Given the description of an element on the screen output the (x, y) to click on. 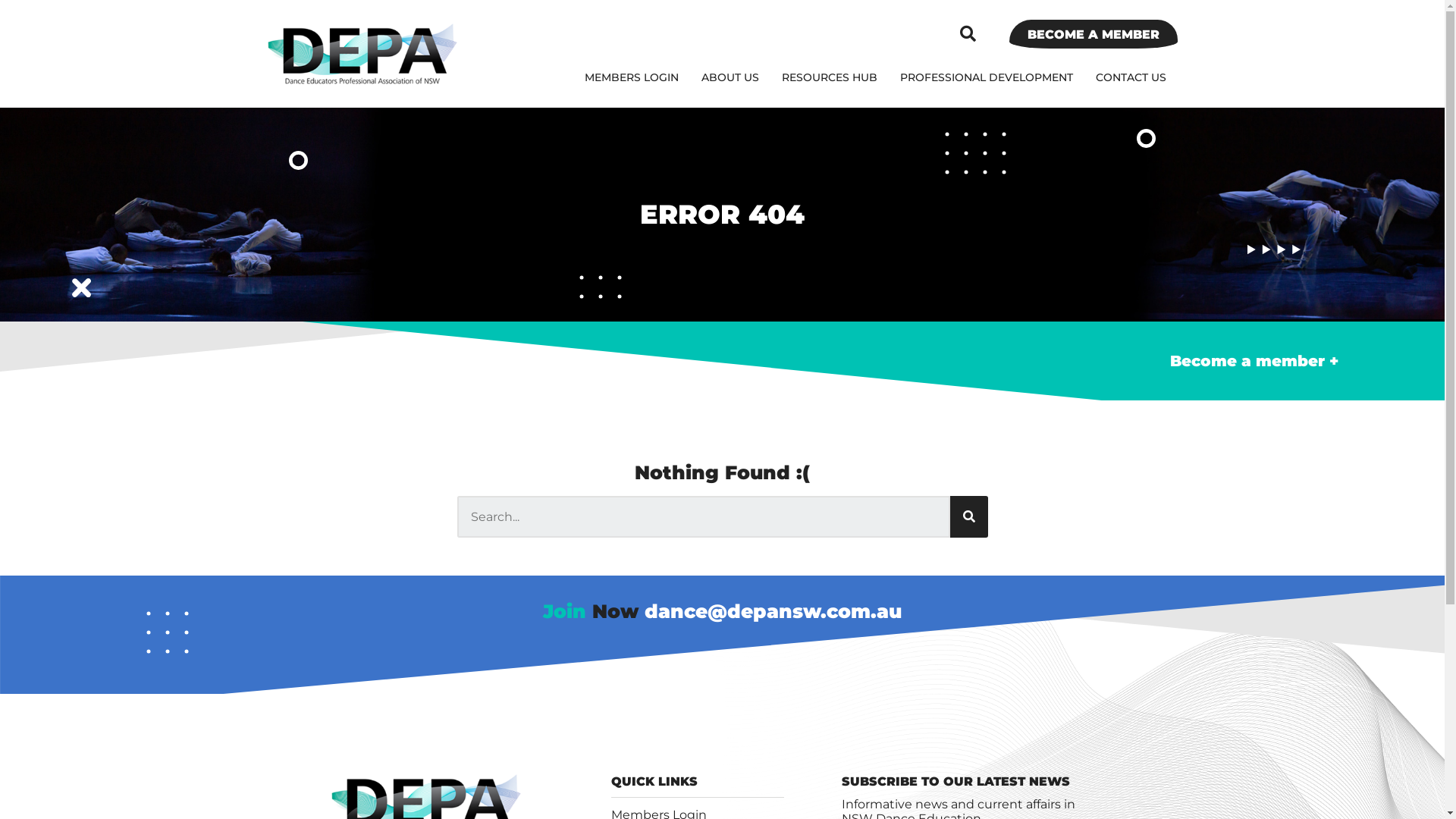
MEMBERS LOGIN Element type: text (631, 77)
Search Element type: hover (702, 516)
Join Now dance@depansw.com.au Element type: text (721, 610)
ABOUT US Element type: text (730, 77)
PROFESSIONAL DEVELOPMENT Element type: text (986, 77)
CONTACT US Element type: text (1130, 77)
Search Element type: hover (968, 516)
RESOURCES HUB Element type: text (829, 77)
BECOME A MEMBER Element type: text (1092, 33)
